Given the description of an element on the screen output the (x, y) to click on. 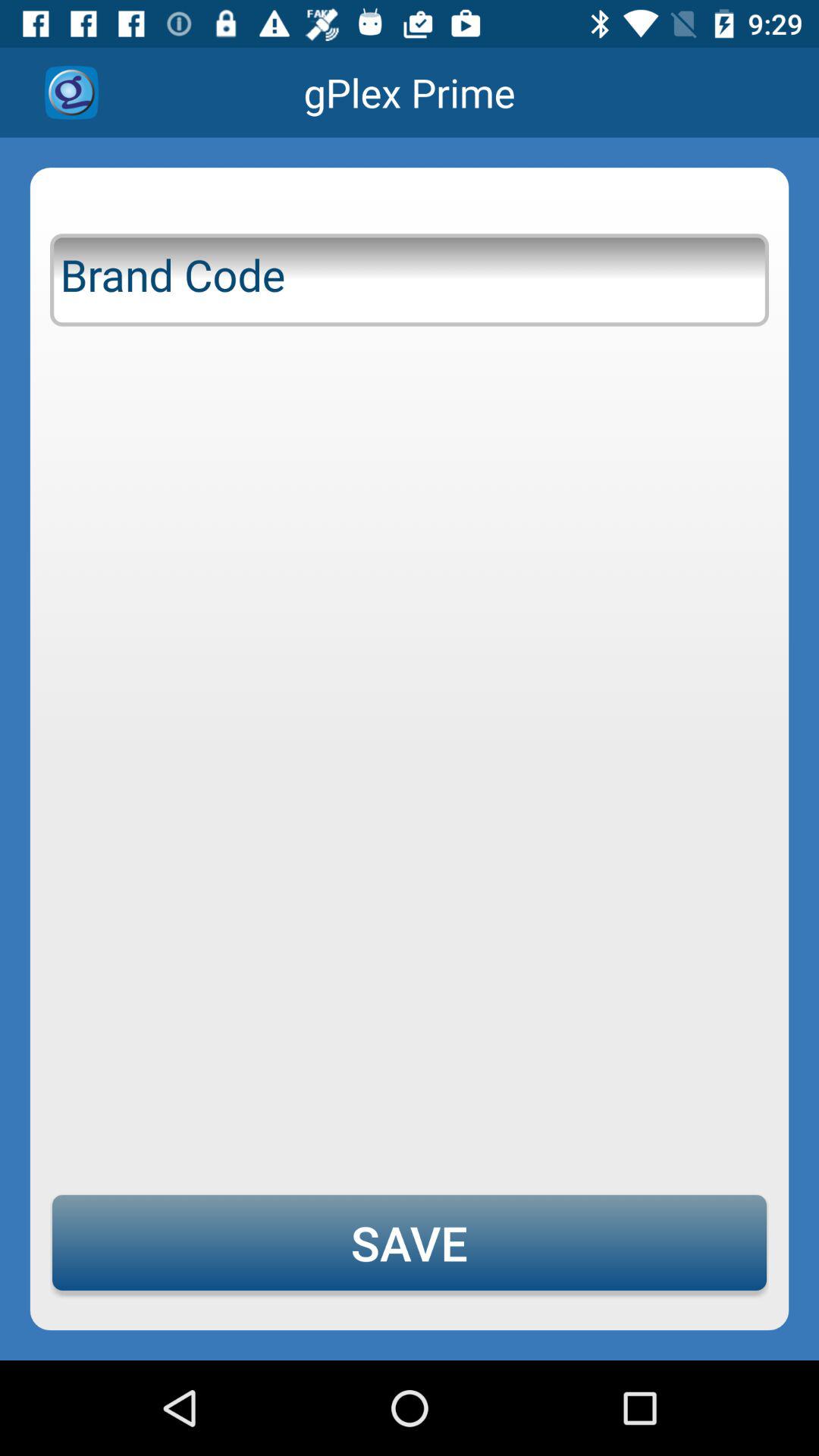
enter brand code text (409, 277)
